Given the description of an element on the screen output the (x, y) to click on. 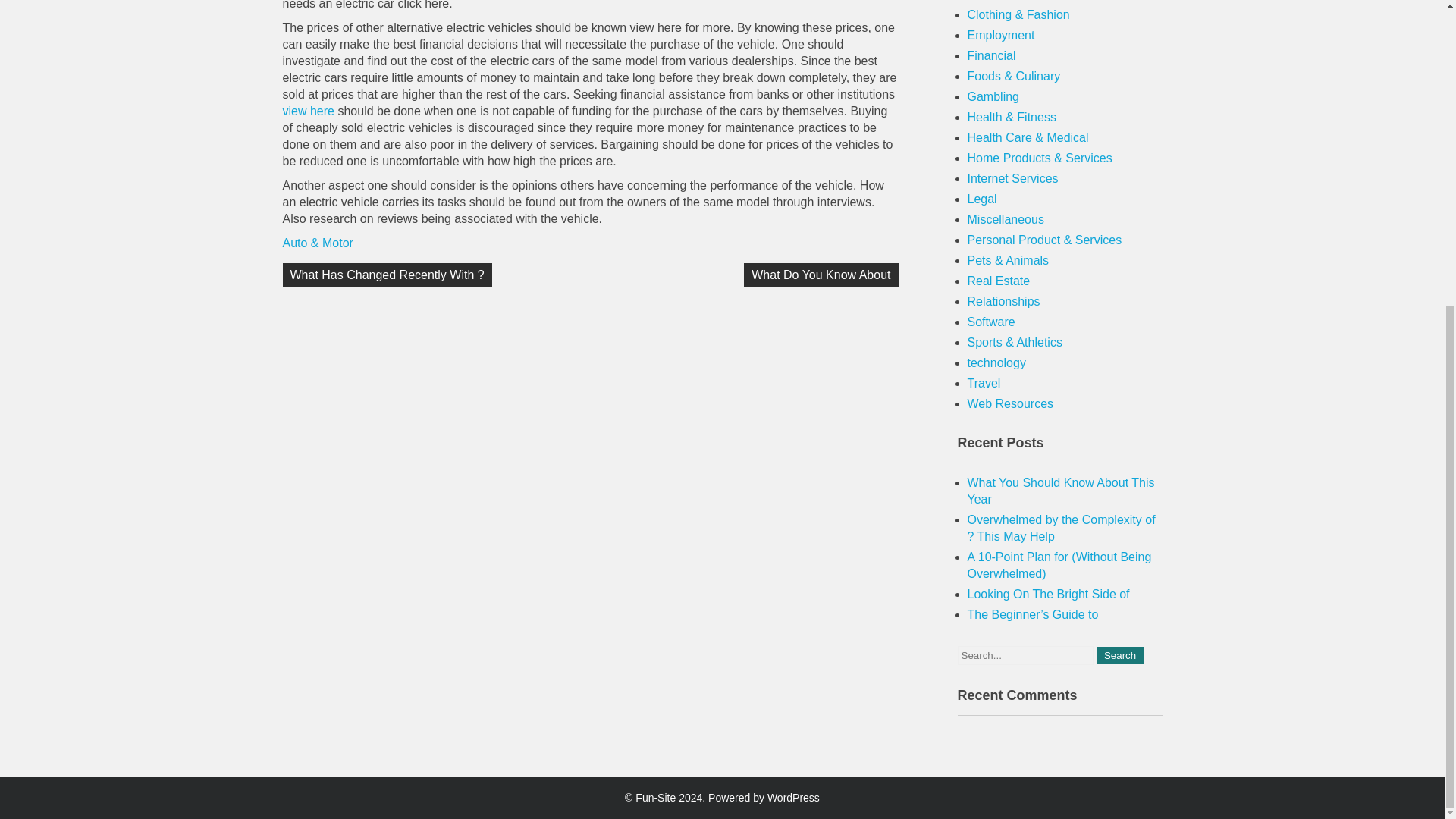
Real Estate (999, 280)
Legal (982, 198)
Gambling (993, 96)
Search (1119, 655)
What Do You Know About (821, 274)
Miscellaneous (1005, 219)
Relationships (1004, 300)
Financial (992, 55)
Internet Services (1013, 178)
view here (307, 110)
Employment (1001, 34)
Search (1119, 655)
What Has Changed Recently With ? (387, 274)
